Given the description of an element on the screen output the (x, y) to click on. 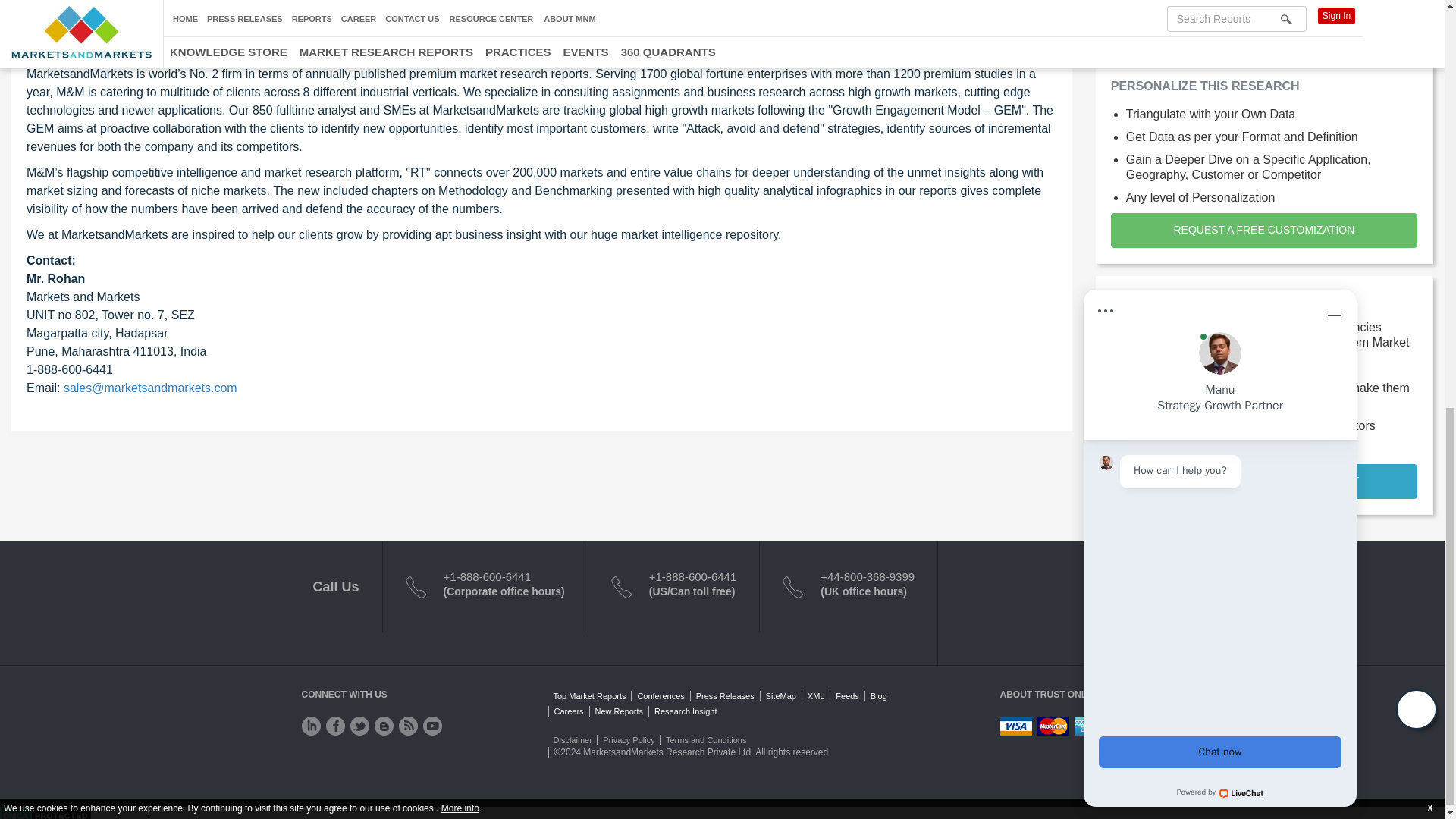
REQUEST A FREE CUSTOMIZATION (1263, 230)
CUSTOMIZED WORKSHOP REQUEST (1263, 25)
